Given the description of an element on the screen output the (x, y) to click on. 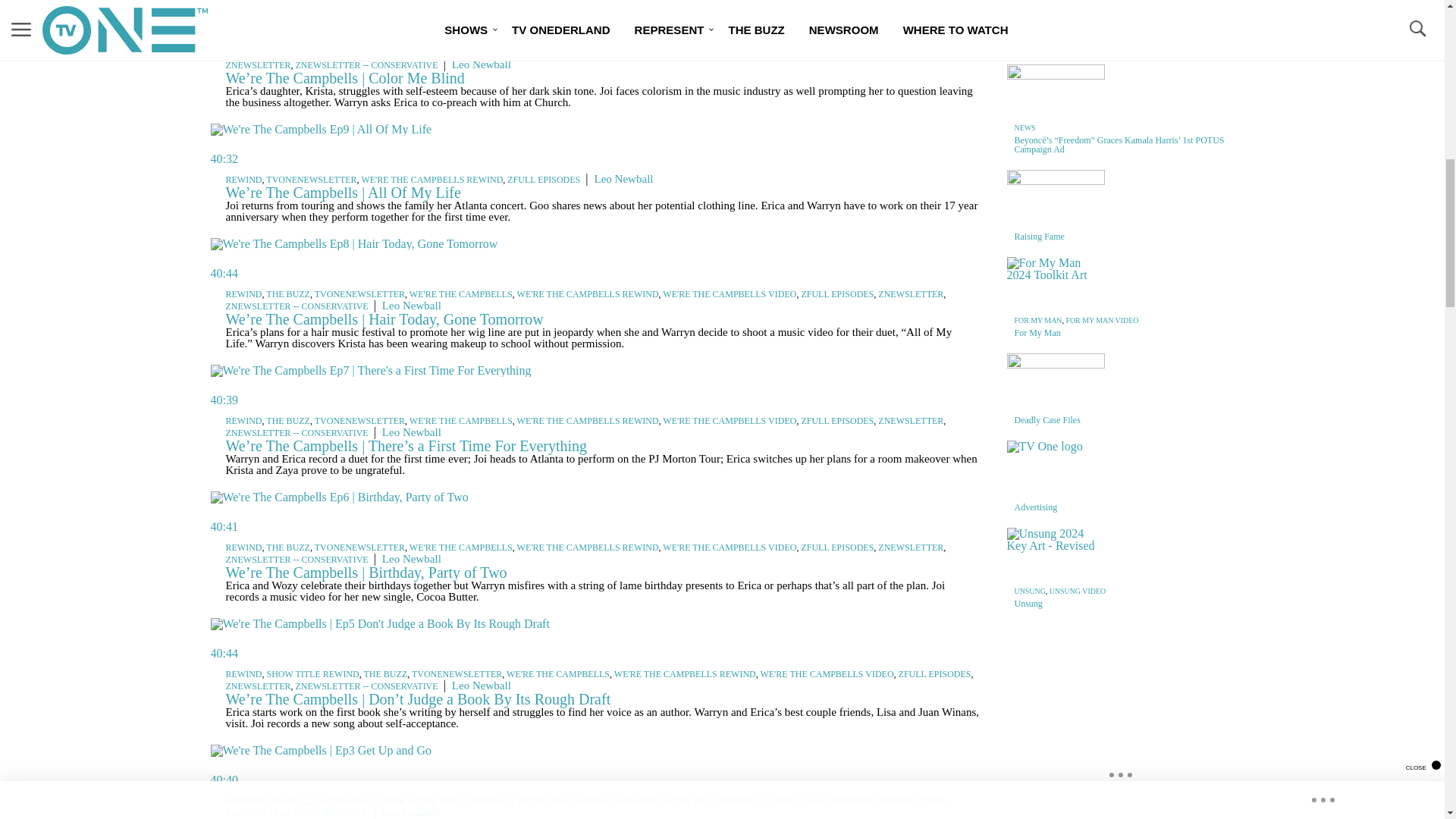
REWIND (243, 179)
40:32 (596, 143)
ZNEWSLETTER -- CONSERVATIVE (366, 64)
Leo Newball (481, 64)
SHOW TITLE REWIND (312, 52)
WE'RE THE CAMPBELLS VIDEO (826, 52)
TVONENEWSLETTER (457, 52)
THE BUZZ (385, 52)
ZNEWSLETTER (258, 64)
TVONENEWSLETTER (311, 179)
REWIND (243, 52)
Leo Newball (623, 178)
WE'RE THE CAMPBELLS REWIND (684, 52)
ZFULL EPISODES (934, 52)
WE'RE THE CAMPBELLS (558, 52)
